Given the description of an element on the screen output the (x, y) to click on. 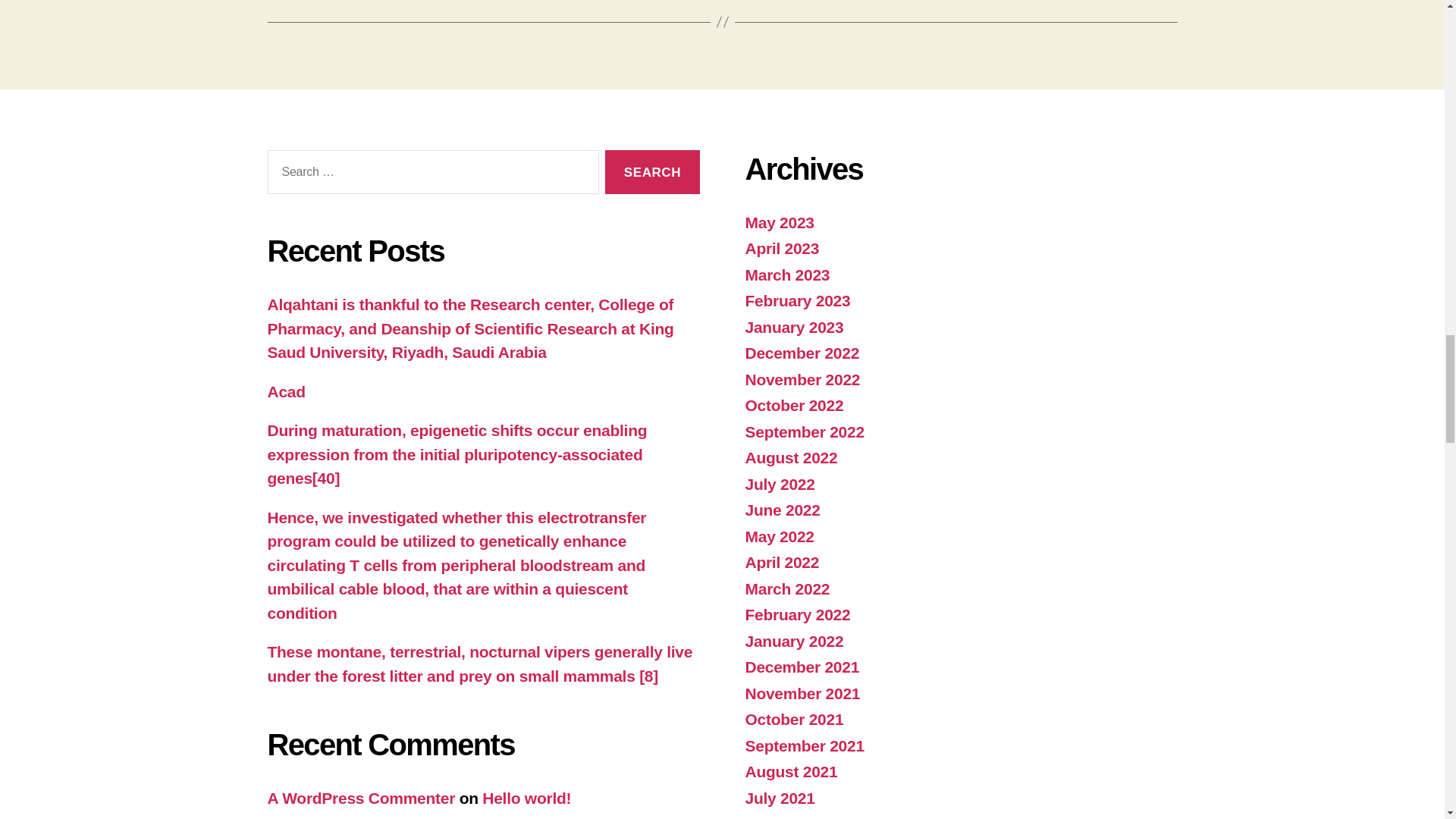
January 2023 (793, 326)
November 2022 (802, 379)
December 2022 (801, 352)
March 2023 (786, 274)
A WordPress Commenter (360, 797)
February 2022 (797, 614)
April 2023 (781, 248)
June 2022 (781, 509)
May 2022 (778, 536)
March 2022 (786, 588)
October 2022 (793, 405)
Search (651, 171)
February 2023 (797, 300)
Search (651, 171)
